Given the description of an element on the screen output the (x, y) to click on. 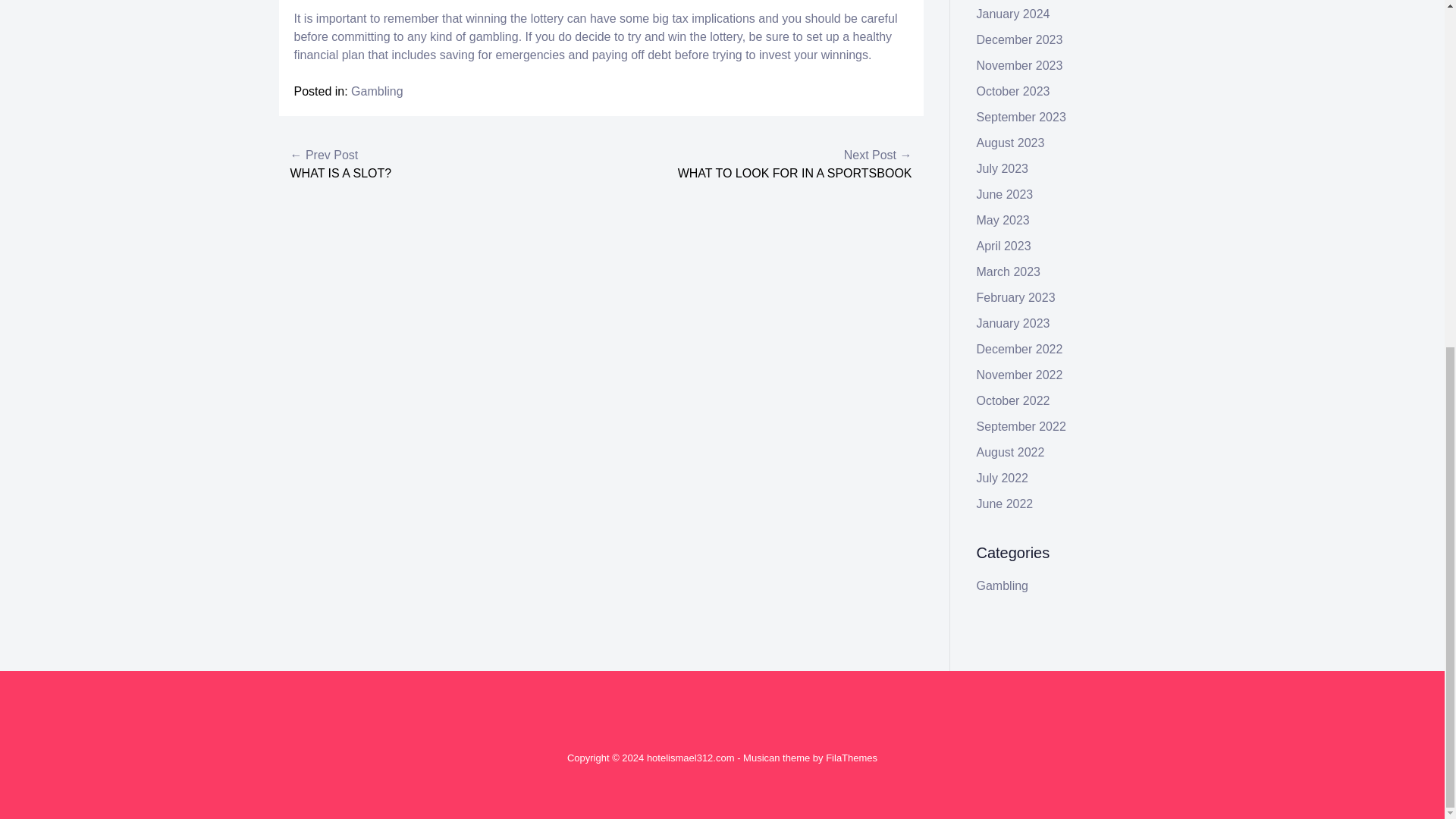
December 2022 (1019, 349)
November 2022 (1019, 374)
September 2023 (1020, 116)
April 2023 (1003, 245)
June 2023 (1004, 194)
Gambling (376, 91)
December 2023 (1019, 39)
July 2023 (1002, 168)
Gambling (1001, 585)
October 2022 (1012, 400)
July 2022 (1002, 477)
August 2022 (1010, 451)
October 2023 (1012, 91)
September 2022 (1020, 426)
February 2023 (1015, 297)
